Given the description of an element on the screen output the (x, y) to click on. 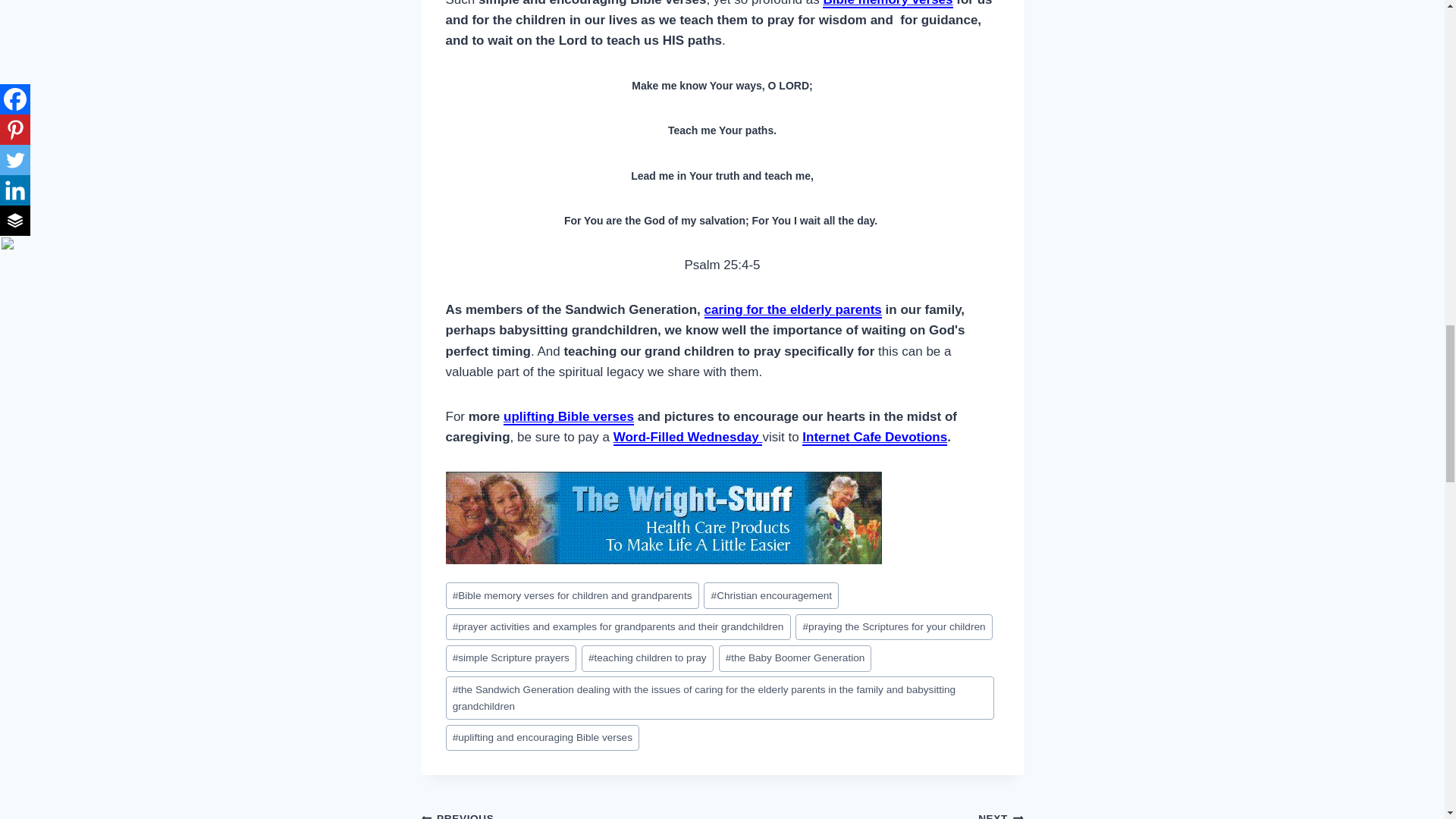
Christian encouragement (770, 595)
uplifting Bible verses (568, 417)
caring for the elderly parents (793, 310)
Internet Cafe Devotions (874, 437)
Word-Filled Wednesday (687, 437)
Bible memory verses (887, 4)
Bible memory verses for children and grandparents (571, 595)
